Given the description of an element on the screen output the (x, y) to click on. 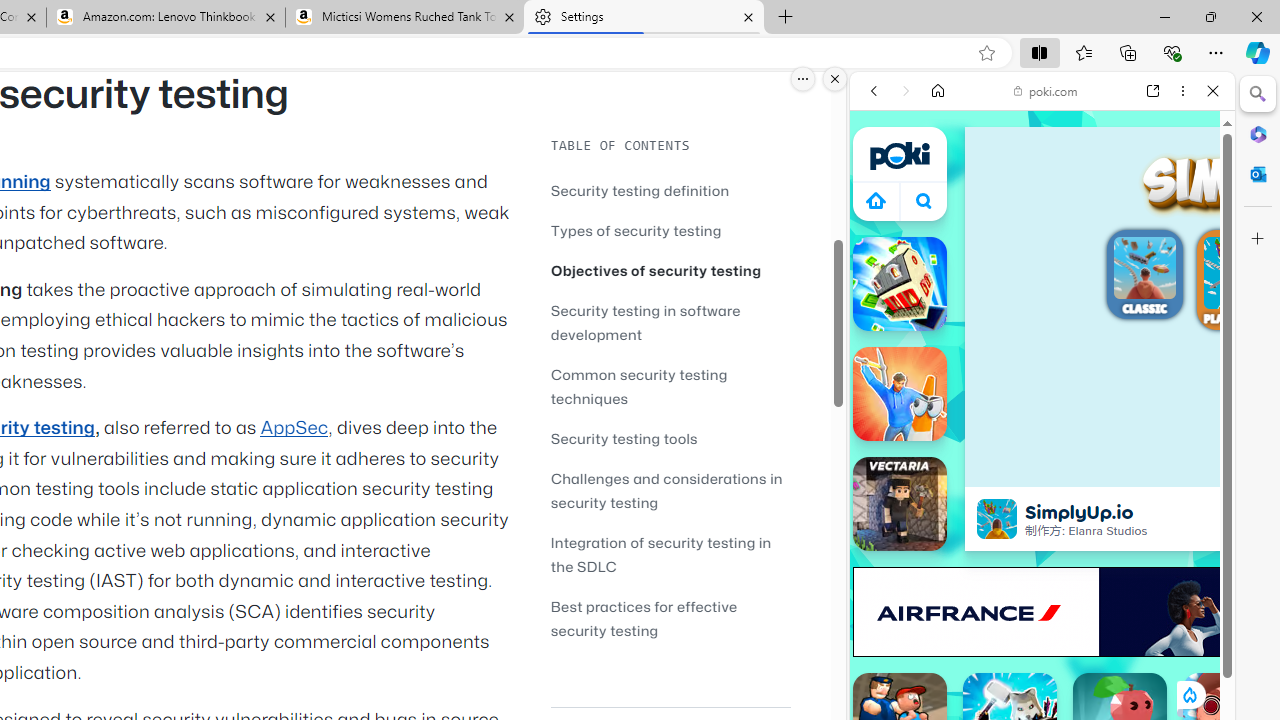
Class: rCs5cyEiqiTpYvt_VBCR (1189, 695)
Security testing tools (670, 438)
Objectives of security testing (655, 270)
Car Games (1042, 469)
Common security testing techniques (670, 386)
Sports Games (1042, 666)
